Given the description of an element on the screen output the (x, y) to click on. 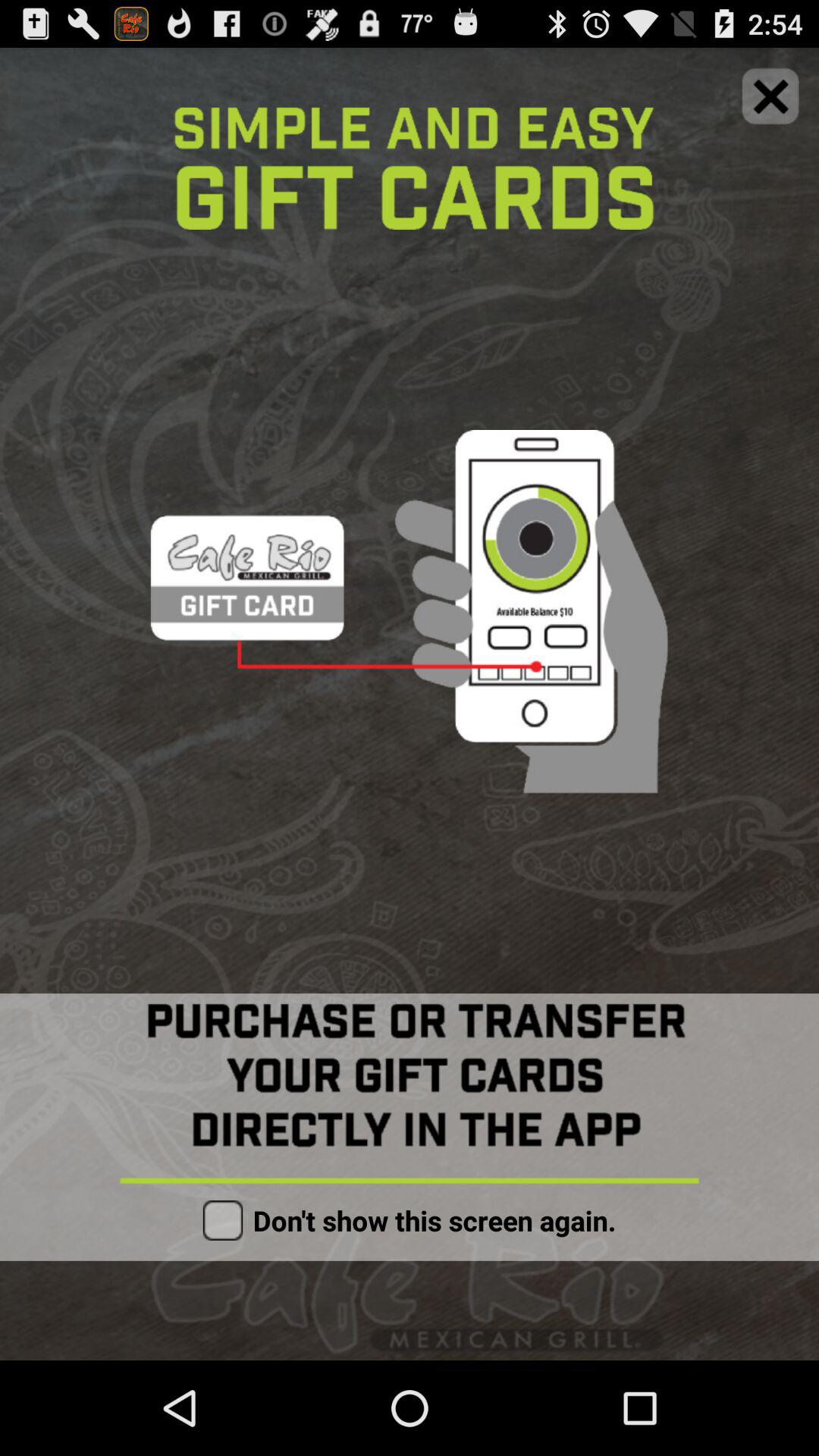
close the tap (770, 95)
